Given the description of an element on the screen output the (x, y) to click on. 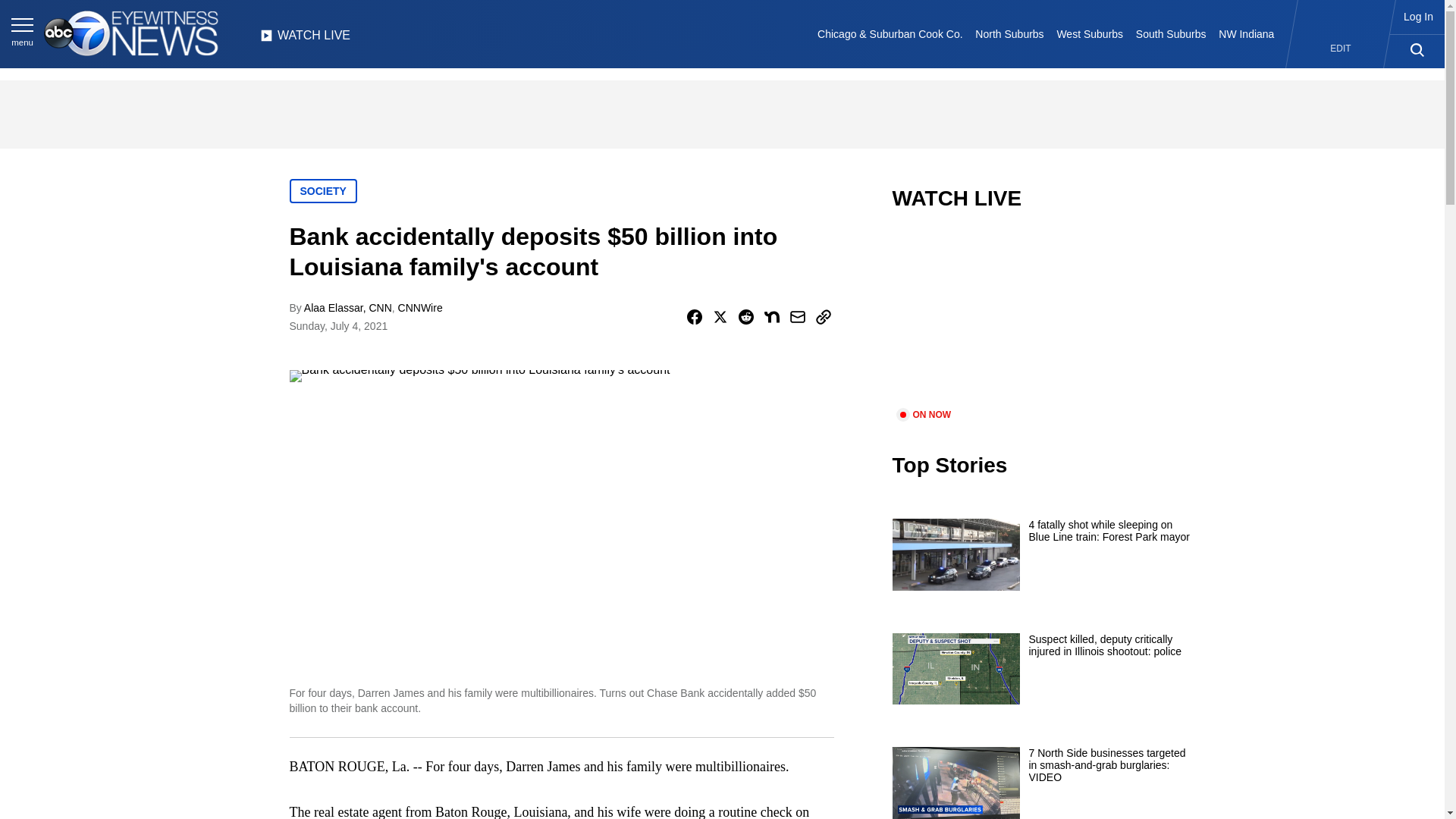
NW Indiana (1246, 33)
West Suburbs (1089, 33)
South Suburbs (1170, 33)
EDIT (1340, 48)
North Suburbs (1009, 33)
video.title (1043, 318)
WATCH LIVE (305, 39)
